Given the description of an element on the screen output the (x, y) to click on. 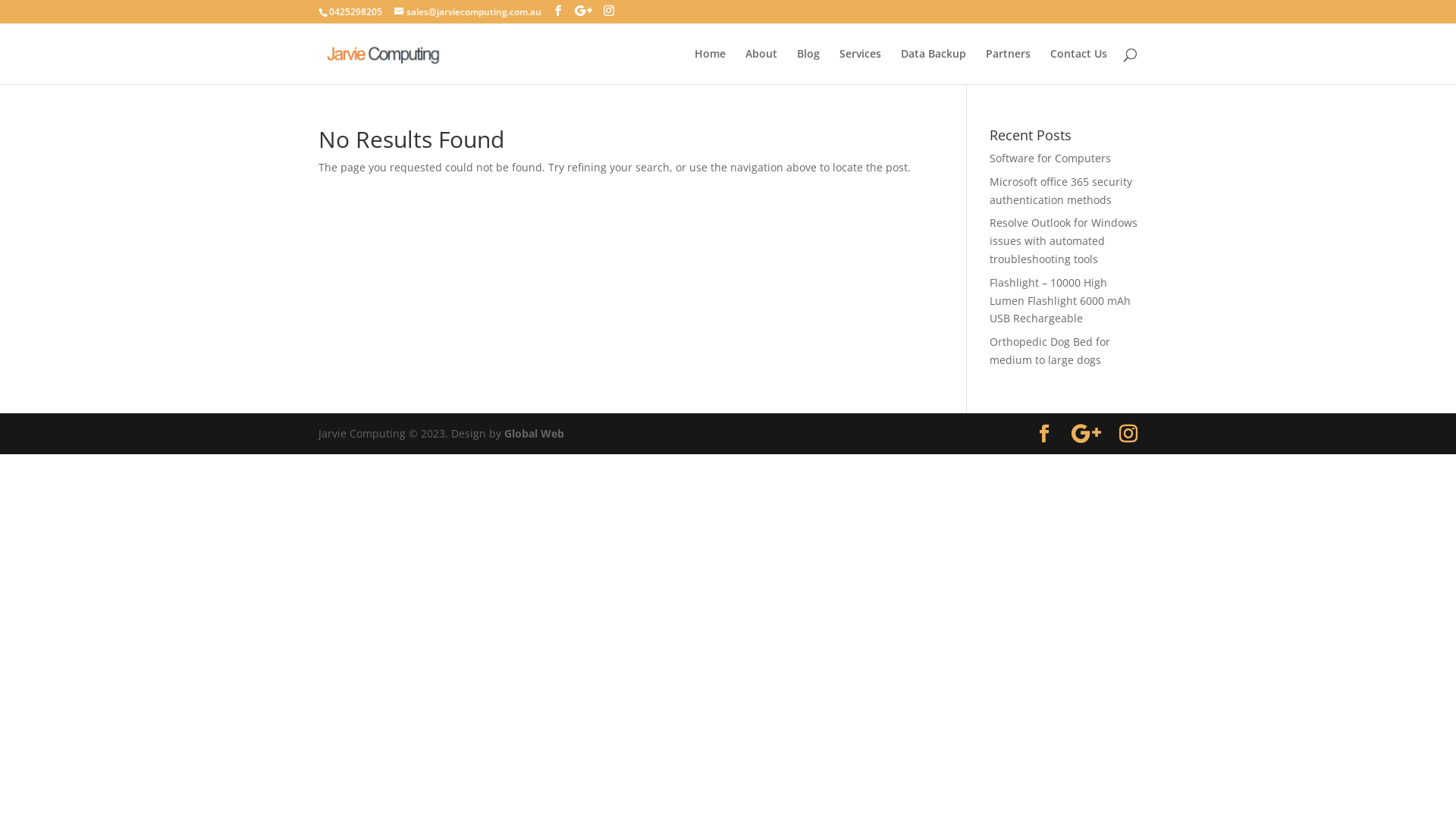
Orthopedic Dog Bed for medium to large dogs Element type: text (1049, 350)
About Element type: text (761, 66)
Services Element type: text (860, 66)
Global Web Element type: text (534, 433)
sales@jarviecomputing.com.au Element type: text (467, 11)
Home Element type: text (709, 66)
Software for Computers Element type: text (1049, 157)
Contact Us Element type: text (1078, 66)
Partners Element type: text (1007, 66)
Blog Element type: text (808, 66)
Data Backup Element type: text (933, 66)
Microsoft office 365 security authentication methods Element type: text (1060, 190)
